Given the description of an element on the screen output the (x, y) to click on. 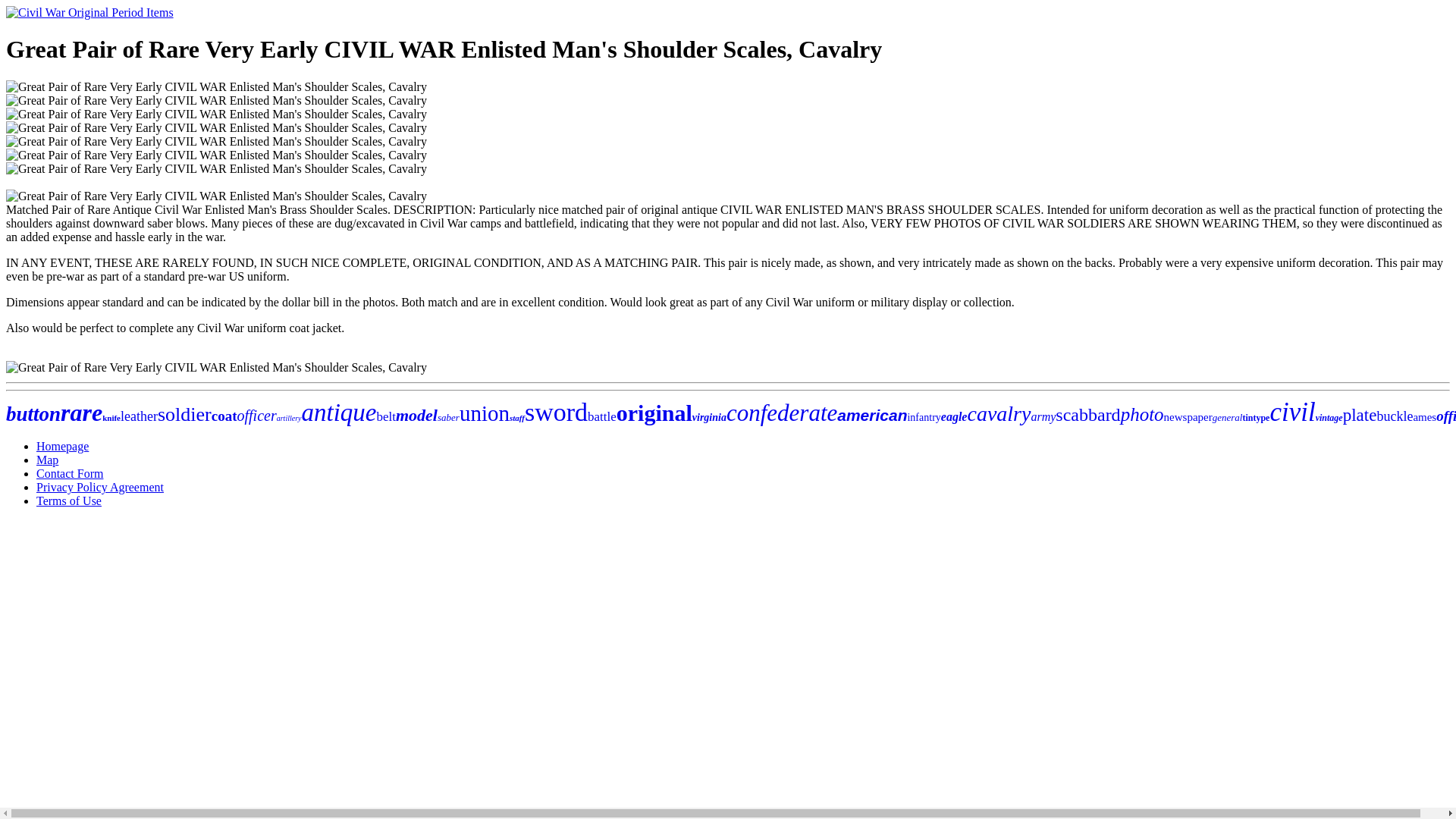
newspaper (1187, 417)
photo (1142, 414)
eagle (954, 416)
coat (224, 415)
soldier (184, 414)
staff (516, 417)
infantry (923, 417)
army (1042, 416)
virginia (709, 417)
rare (81, 411)
officer (255, 415)
antique (339, 411)
